Given the description of an element on the screen output the (x, y) to click on. 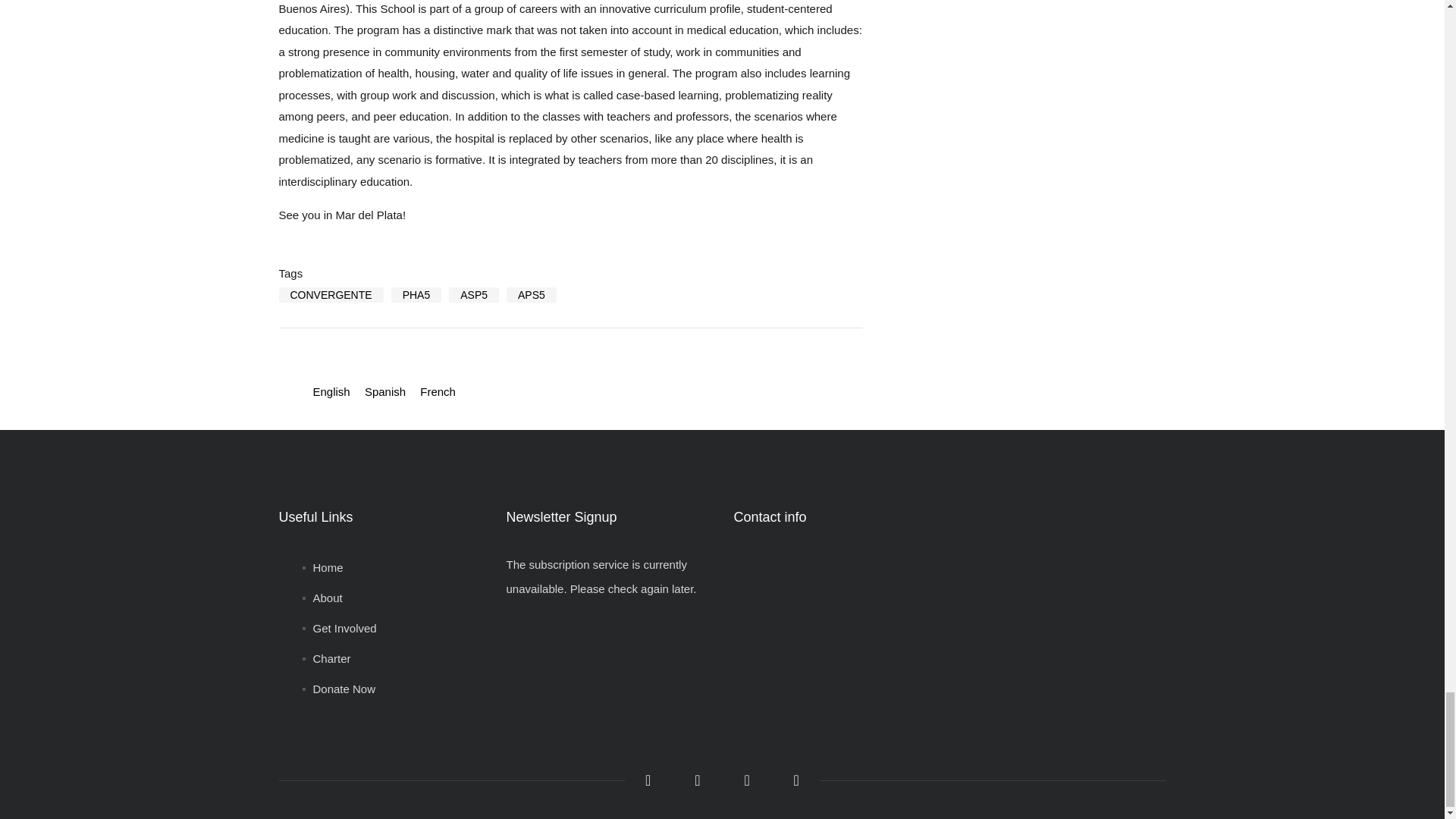
CONVERGENTE (331, 294)
PHA5 (416, 294)
